Given the description of an element on the screen output the (x, y) to click on. 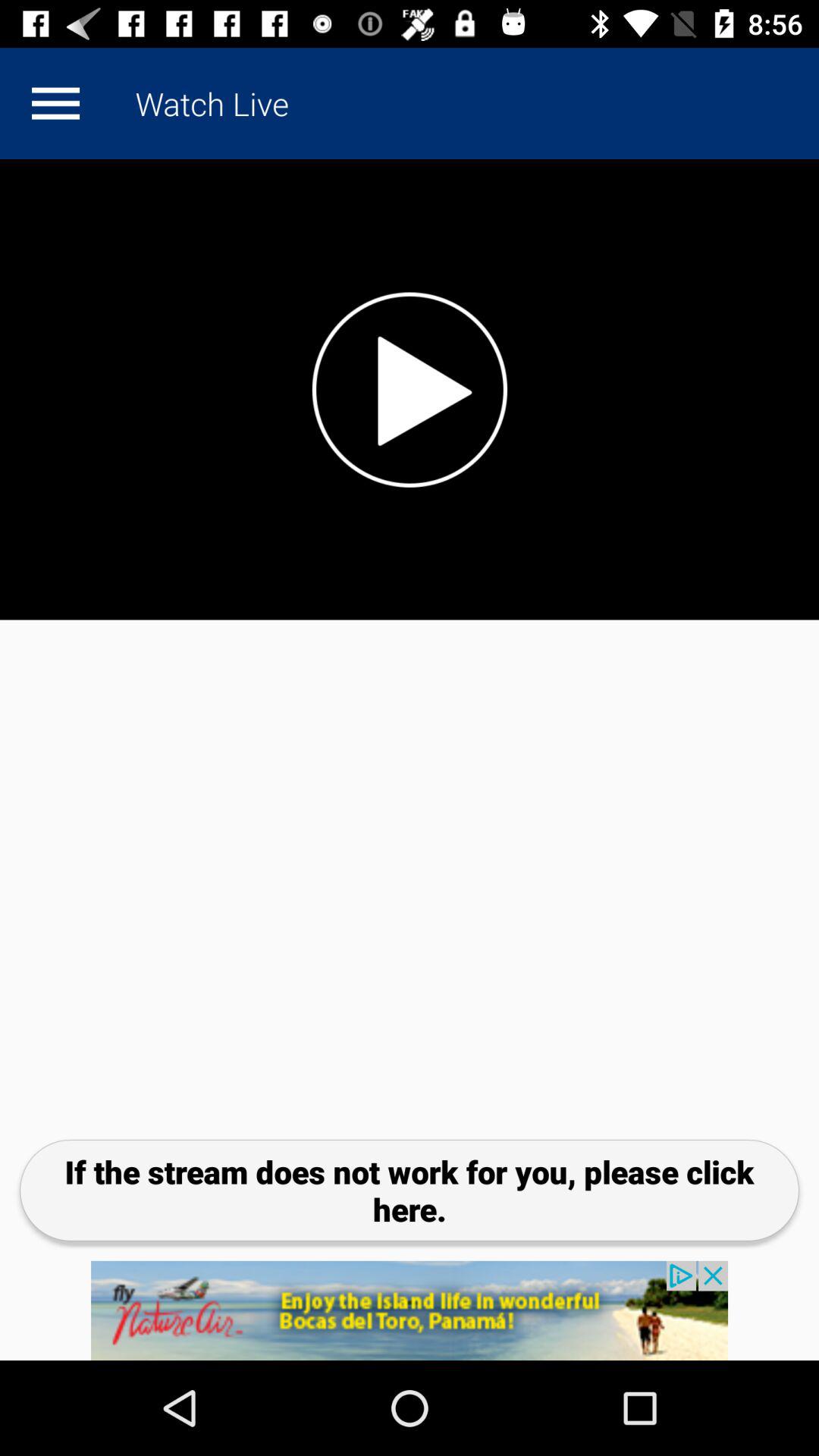
select the play (409, 389)
